Given the description of an element on the screen output the (x, y) to click on. 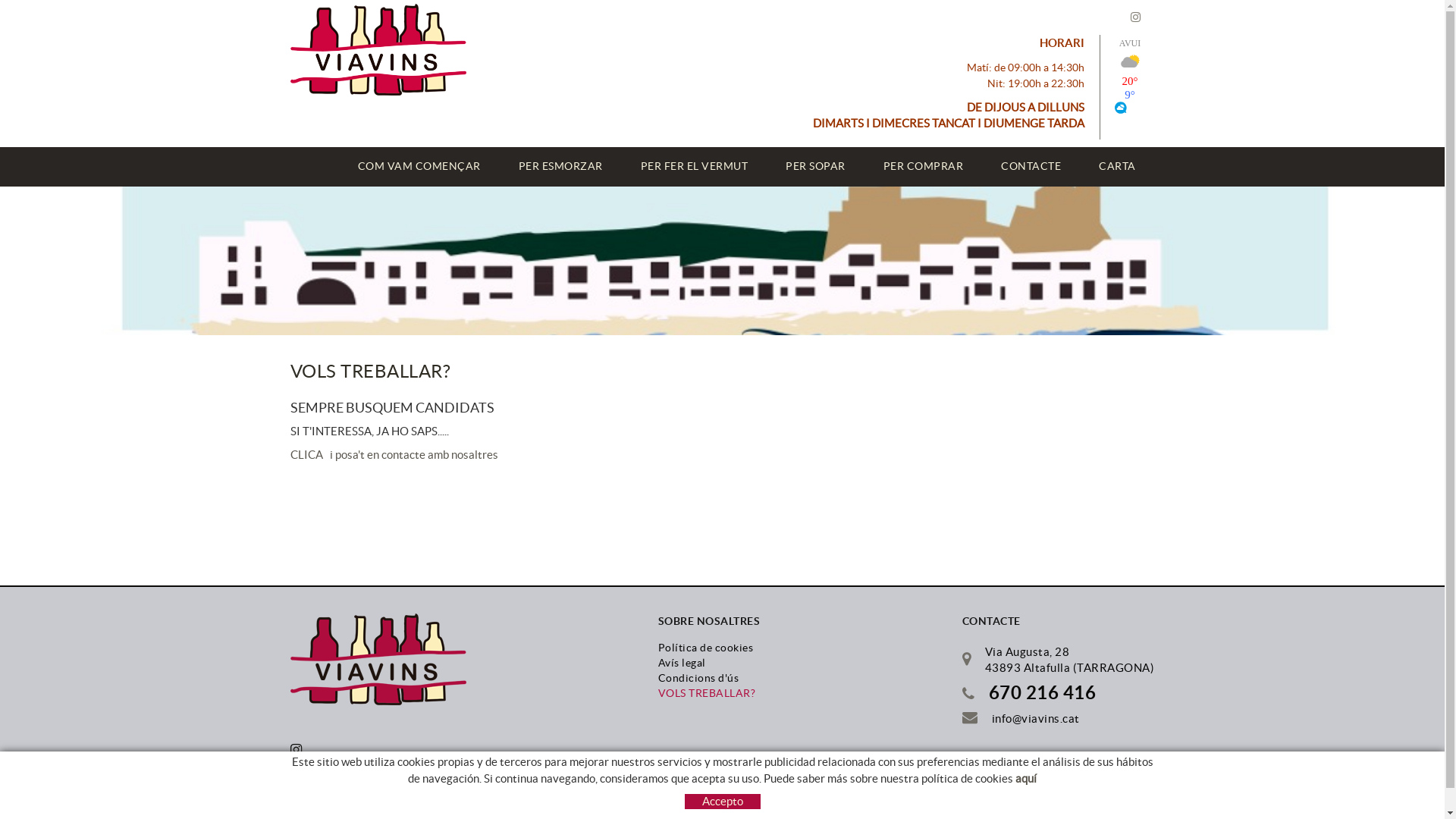
CONTACTE Element type: text (1030, 166)
PER ESMORZAR Element type: text (559, 166)
CARTA Element type: text (1116, 166)
VOLS TREBALLAR? Element type: text (707, 693)
  i posa't en contacte amb nosaltres Element type: text (410, 454)
GPI Software - Internet & Web Solutions Element type: hover (788, 804)
info@viavins.cat Element type: text (1035, 718)
CLICA Element type: text (305, 454)
PER SOPAR Element type: text (815, 166)
PER FER EL VERMUT Element type: text (694, 166)
PER COMPRAR Element type: text (923, 166)
